Given the description of an element on the screen output the (x, y) to click on. 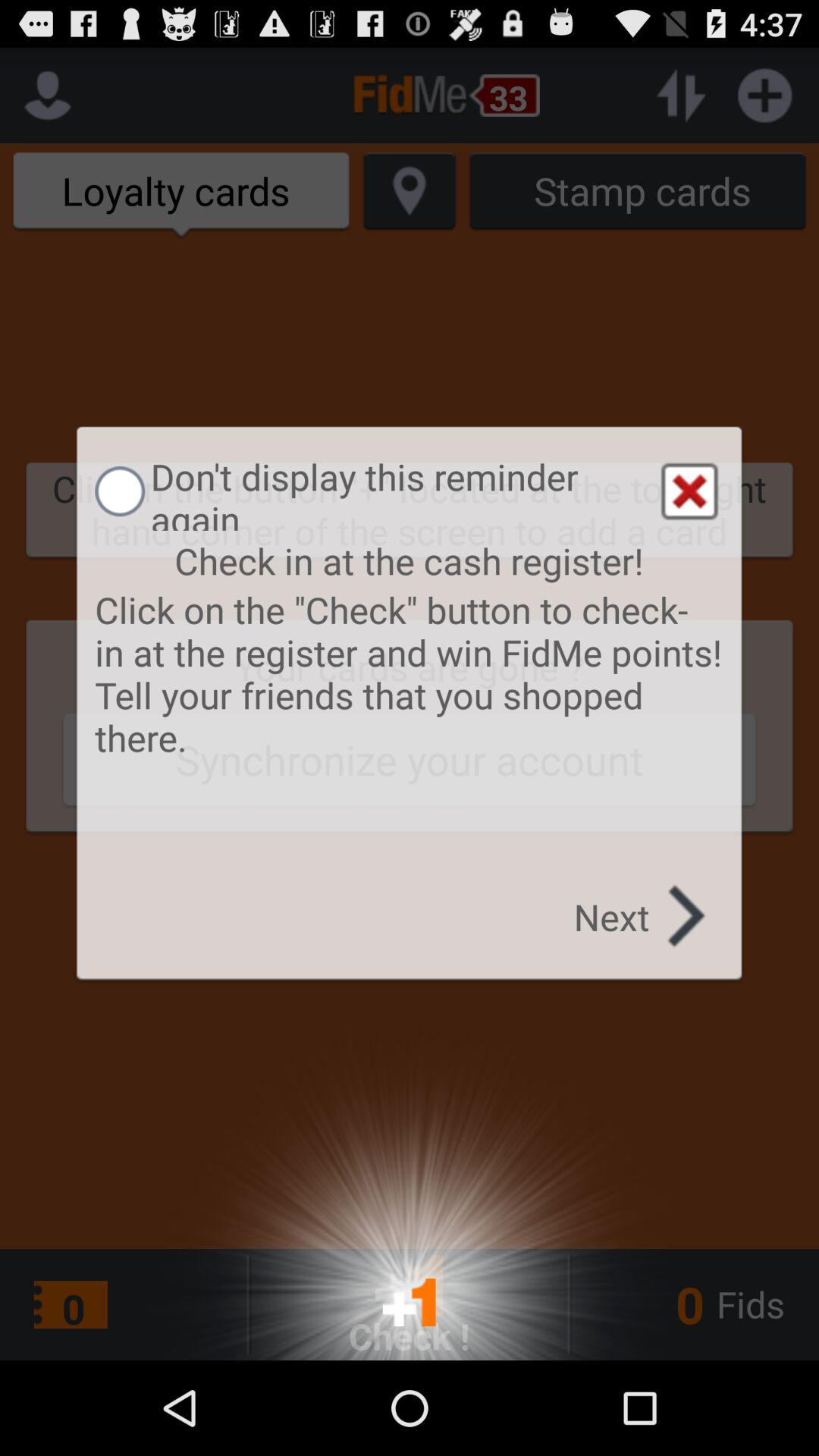
click the item to the right of don t display (689, 491)
